Given the description of an element on the screen output the (x, y) to click on. 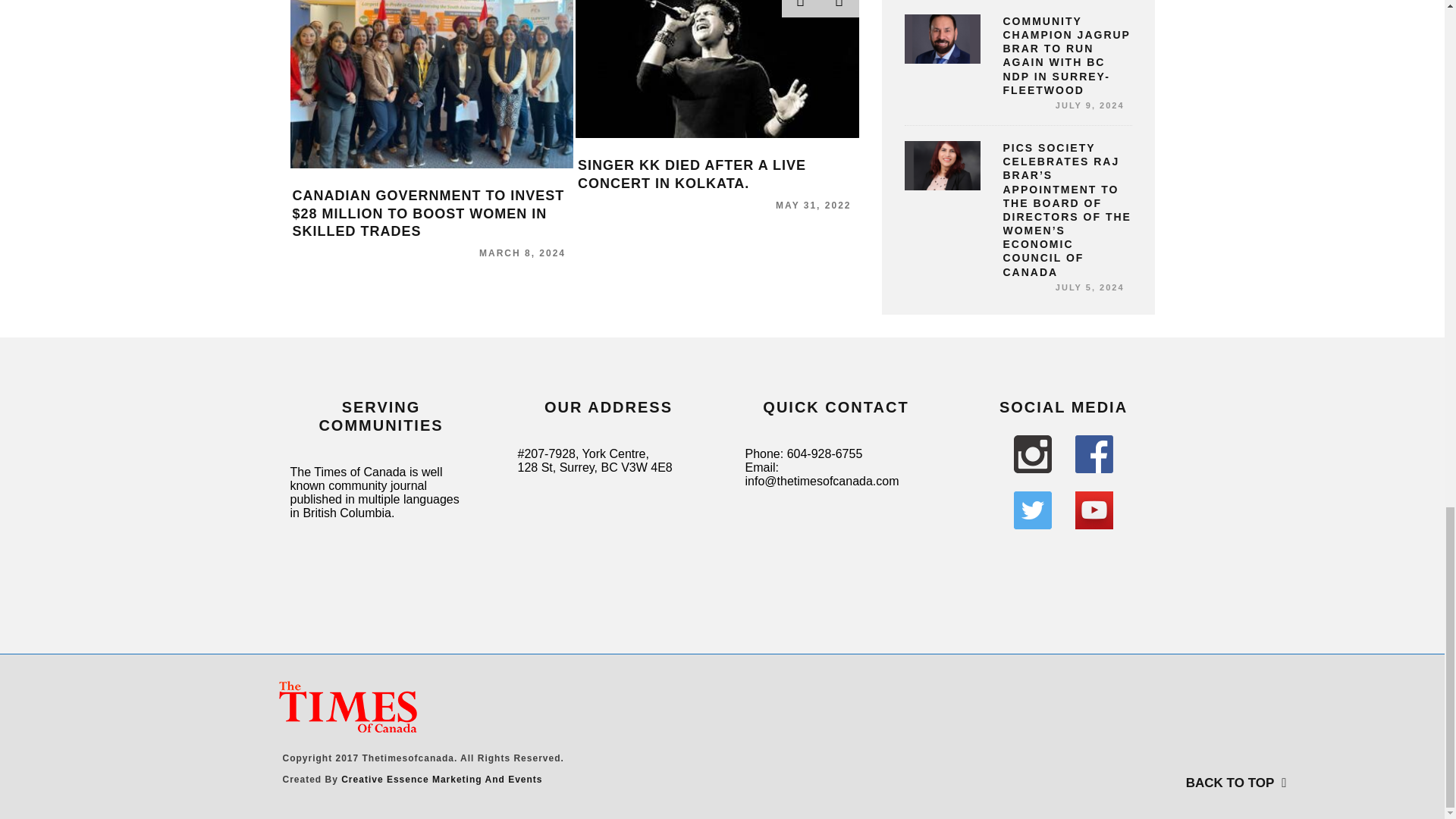
SINGER KK DIED AFTER A LIVE CONCERT IN KOLKATA. (692, 174)
